Given the description of an element on the screen output the (x, y) to click on. 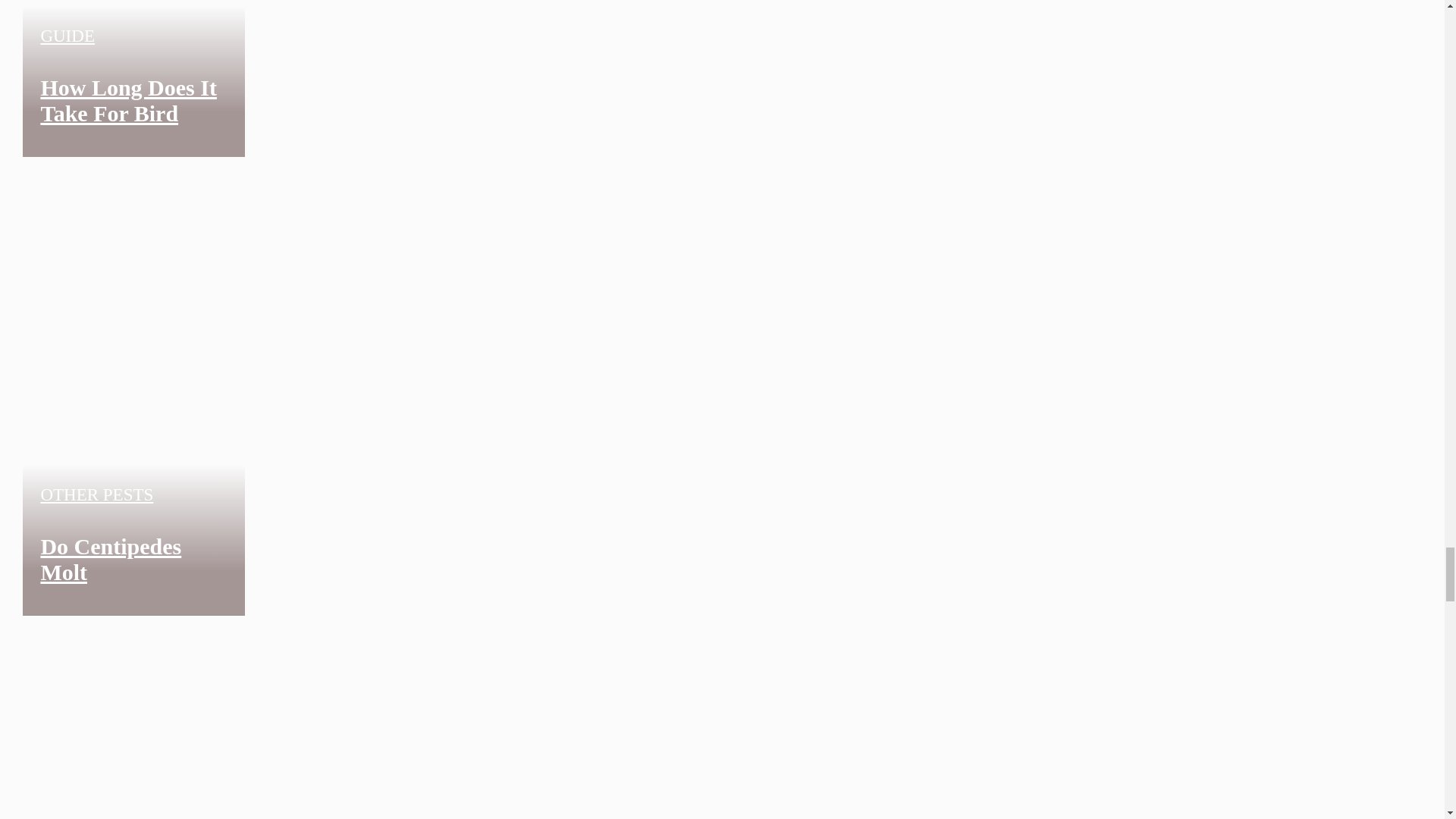
Do Centipedes Molt (110, 558)
OTHER PESTS (96, 494)
GUIDE (67, 35)
How Long Does It Take For Bird Mites Eggs To Hatch? (128, 125)
